Given the description of an element on the screen output the (x, y) to click on. 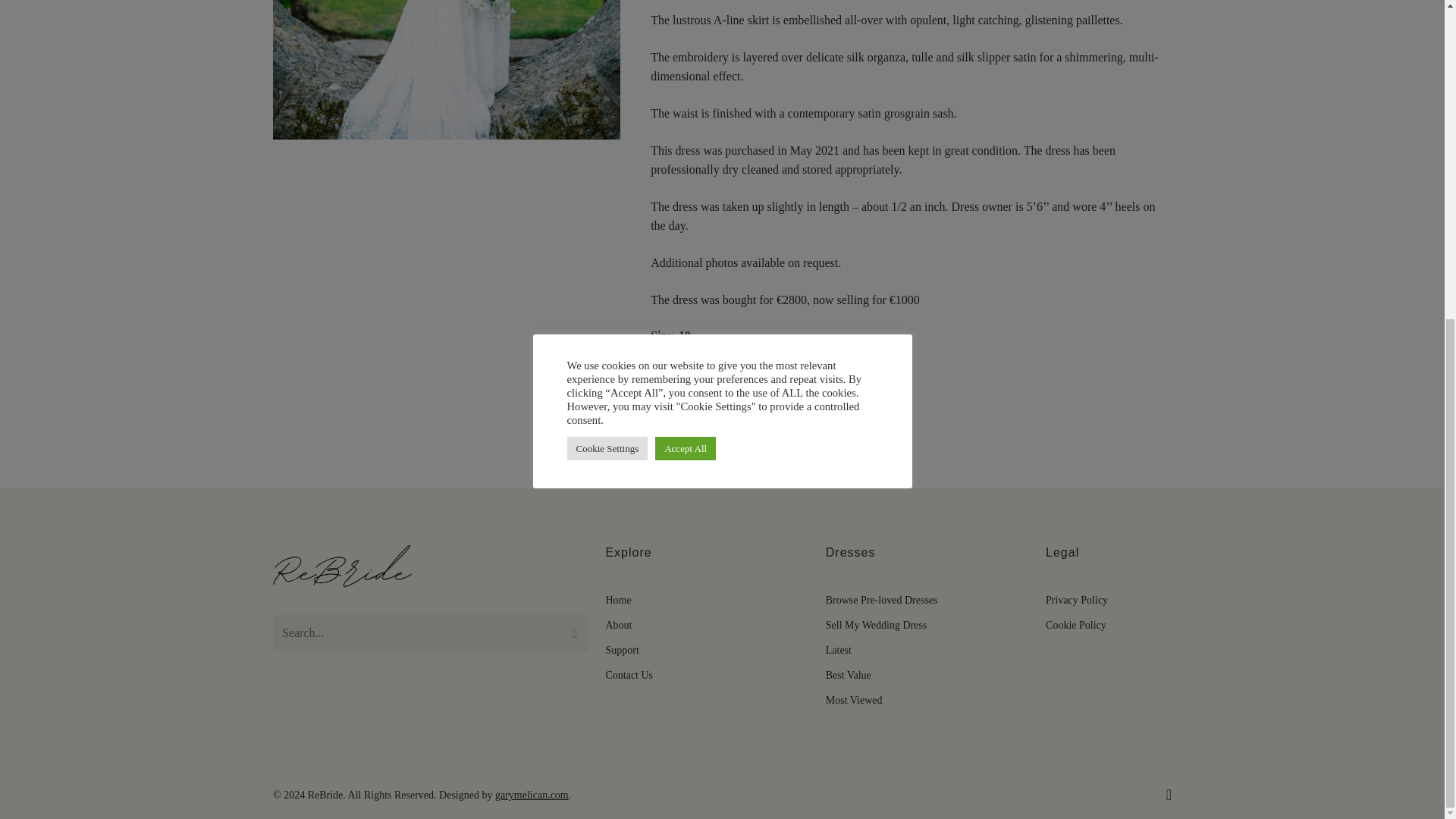
Search for: (430, 633)
